Given the description of an element on the screen output the (x, y) to click on. 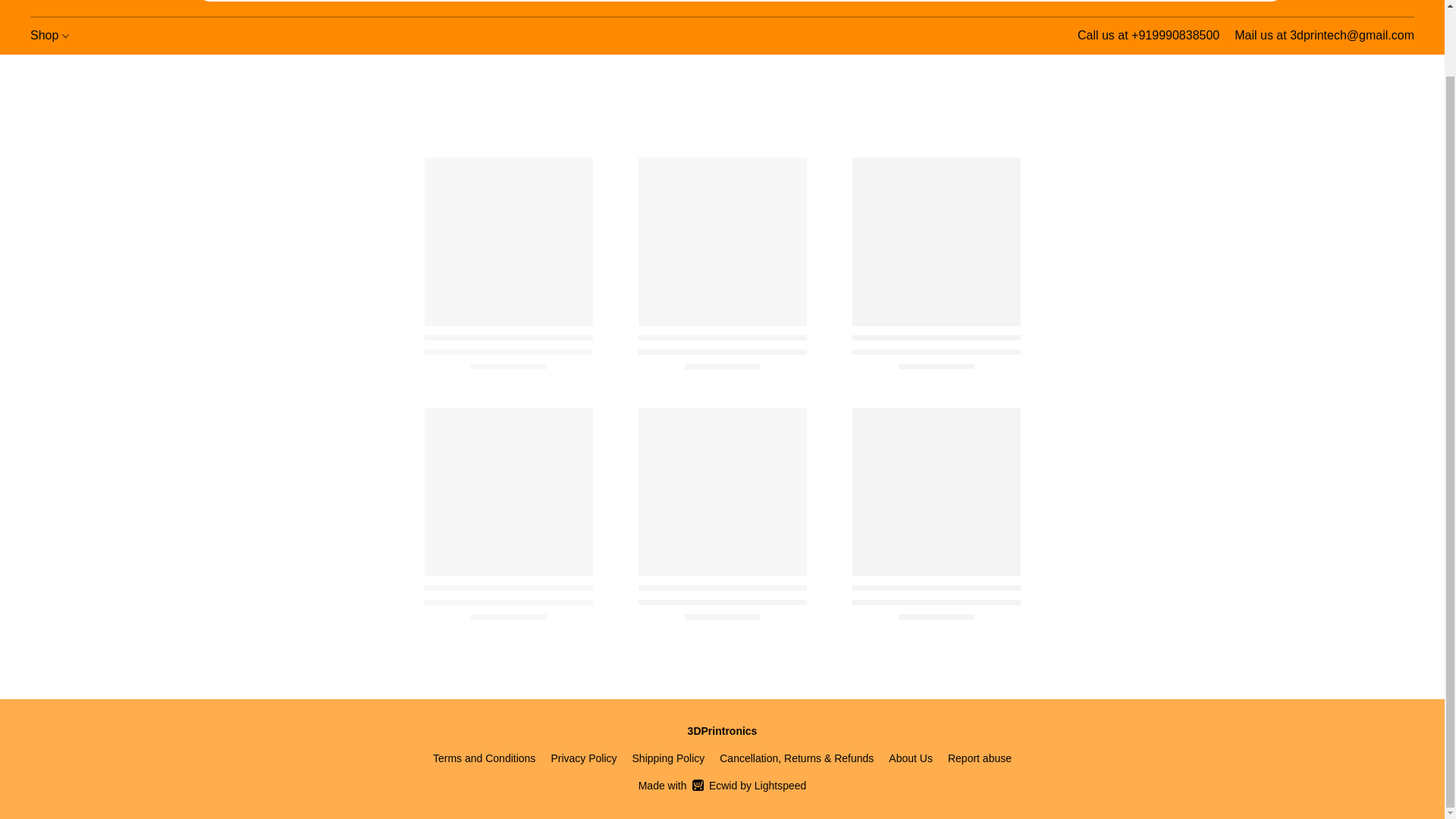
Report abuse (979, 758)
About Us (910, 758)
Go to your shopping cart (1404, 3)
Shipping Policy (667, 758)
3DPrintronics (98, 4)
Privacy Policy (582, 758)
Terms and Conditions (483, 758)
Shop (49, 35)
